Given the description of an element on the screen output the (x, y) to click on. 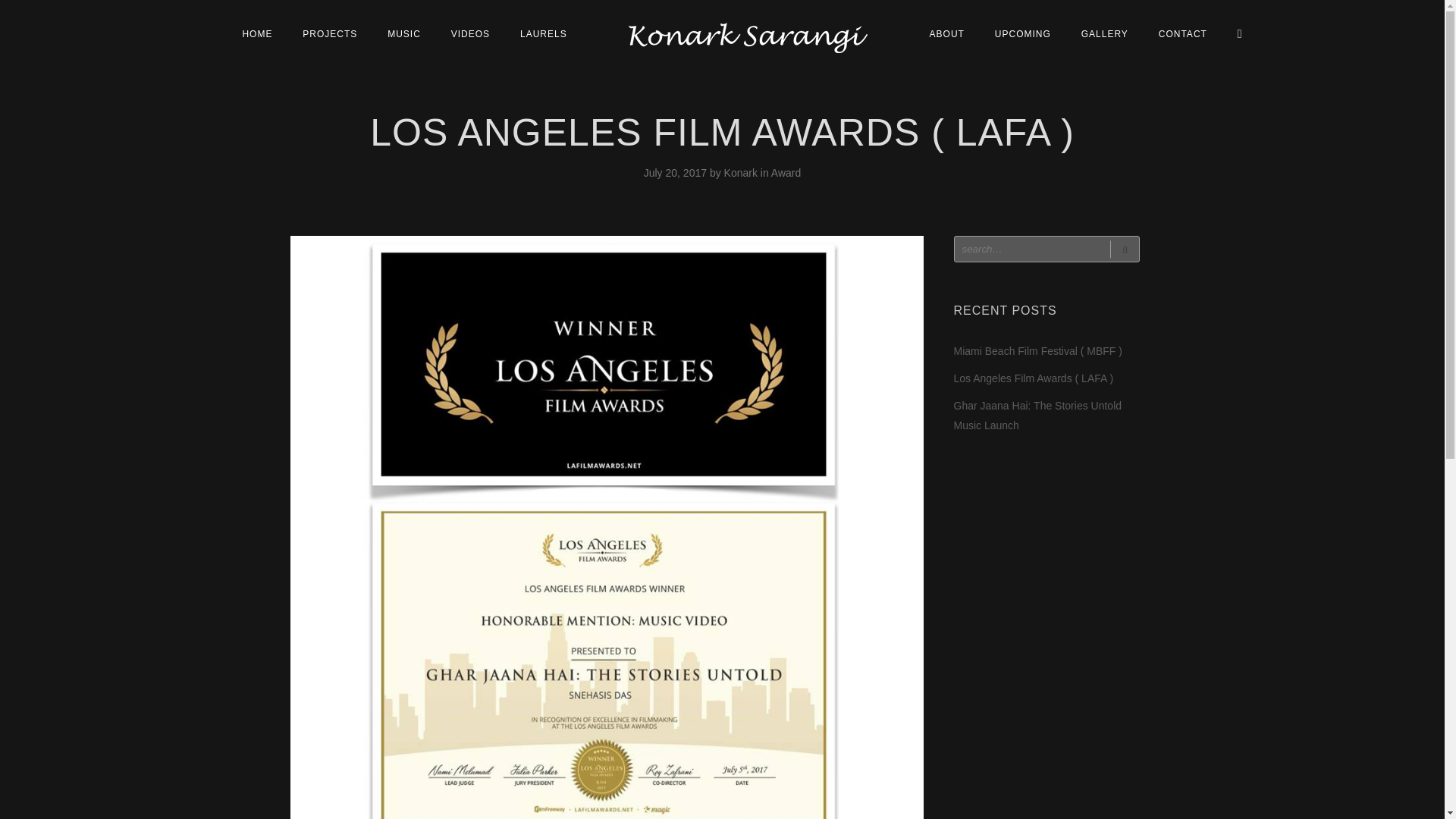
LAURELS (543, 33)
Ghar Jaana Hai: The Stories Untold Music Launch (1037, 415)
ABOUT (946, 33)
Konark (741, 173)
GALLERY (1104, 33)
VIDEOS (470, 33)
UPCOMING (1022, 33)
HOME (256, 33)
MUSIC (403, 33)
PROJECTS (329, 33)
Search (1123, 248)
CONTACT (1182, 33)
Award (785, 173)
